Given the description of an element on the screen output the (x, y) to click on. 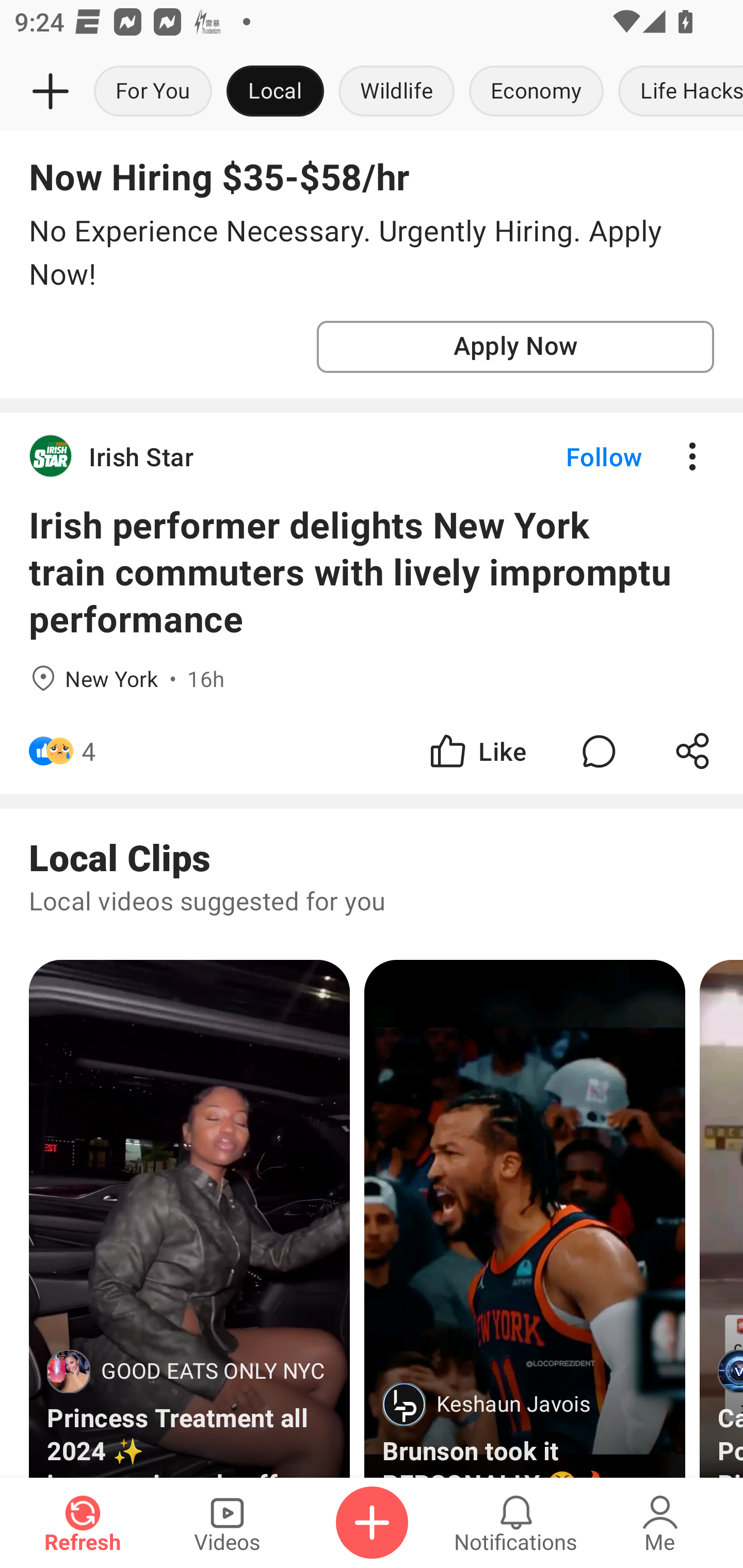
For You (152, 91)
Local (275, 91)
Wildlife (396, 91)
Economy (536, 91)
Life Hacks (676, 91)
Now Hiring $35-$58/hr (219, 176)
Apply Now (515, 347)
Irish Star Follow (371, 456)
Follow (569, 456)
4 (88, 750)
Like (476, 750)
Keshaun Javois Brunson took it PERSONALLY 😤🔥 (524, 1218)
Videos (227, 1522)
Notifications (516, 1522)
Me (659, 1522)
